Given the description of an element on the screen output the (x, y) to click on. 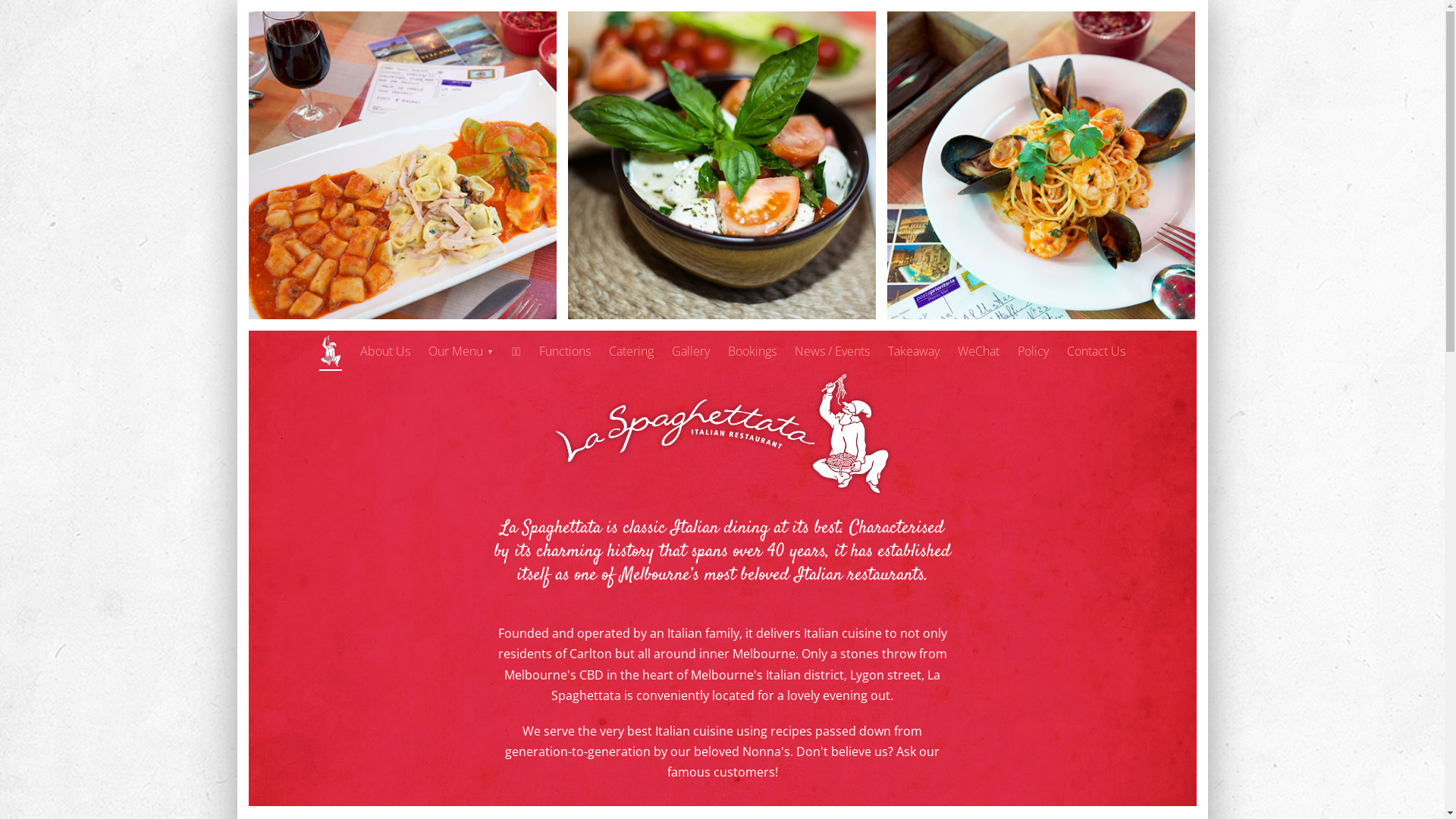
La Spaghettata's Logo Element type: hover (330, 350)
WeChat Element type: text (978, 351)
News / Events Element type: text (831, 351)
La Spaghettata's Logo Element type: hover (722, 490)
Policy Element type: text (1032, 351)
About Us Element type: text (385, 351)
Contact Us Element type: text (1095, 351)
Takeaway Element type: text (913, 351)
Catering Element type: text (630, 351)
Home Element type: hover (330, 350)
La Spaghettata's Logo Element type: hover (722, 432)
Functions Element type: text (564, 351)
Bookings Element type: text (752, 351)
Gallery Element type: text (690, 351)
